Given the description of an element on the screen output the (x, y) to click on. 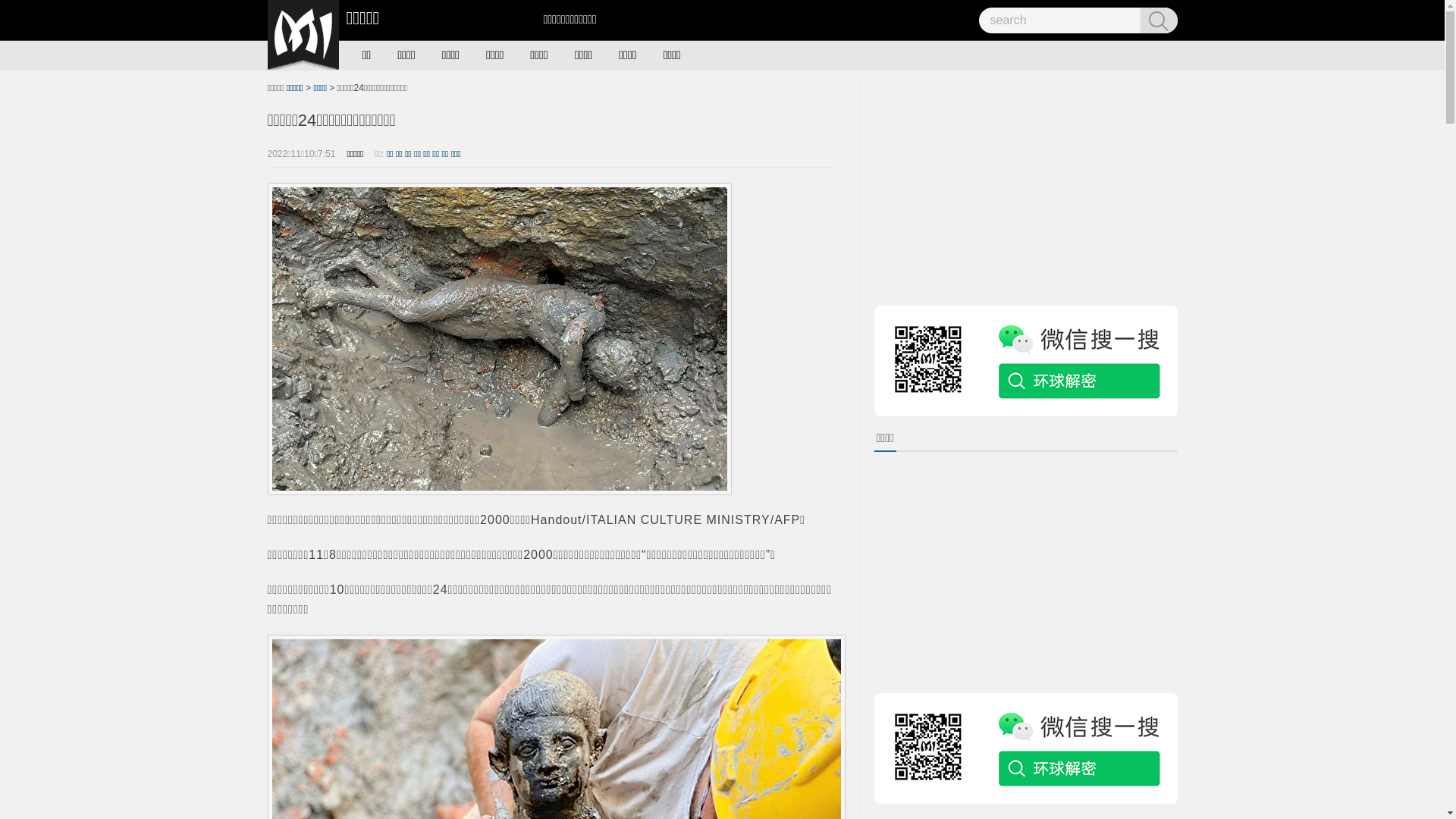
Advertisement Element type: hover (1024, 181)
Advertisement Element type: hover (1024, 569)
